Given the description of an element on the screen output the (x, y) to click on. 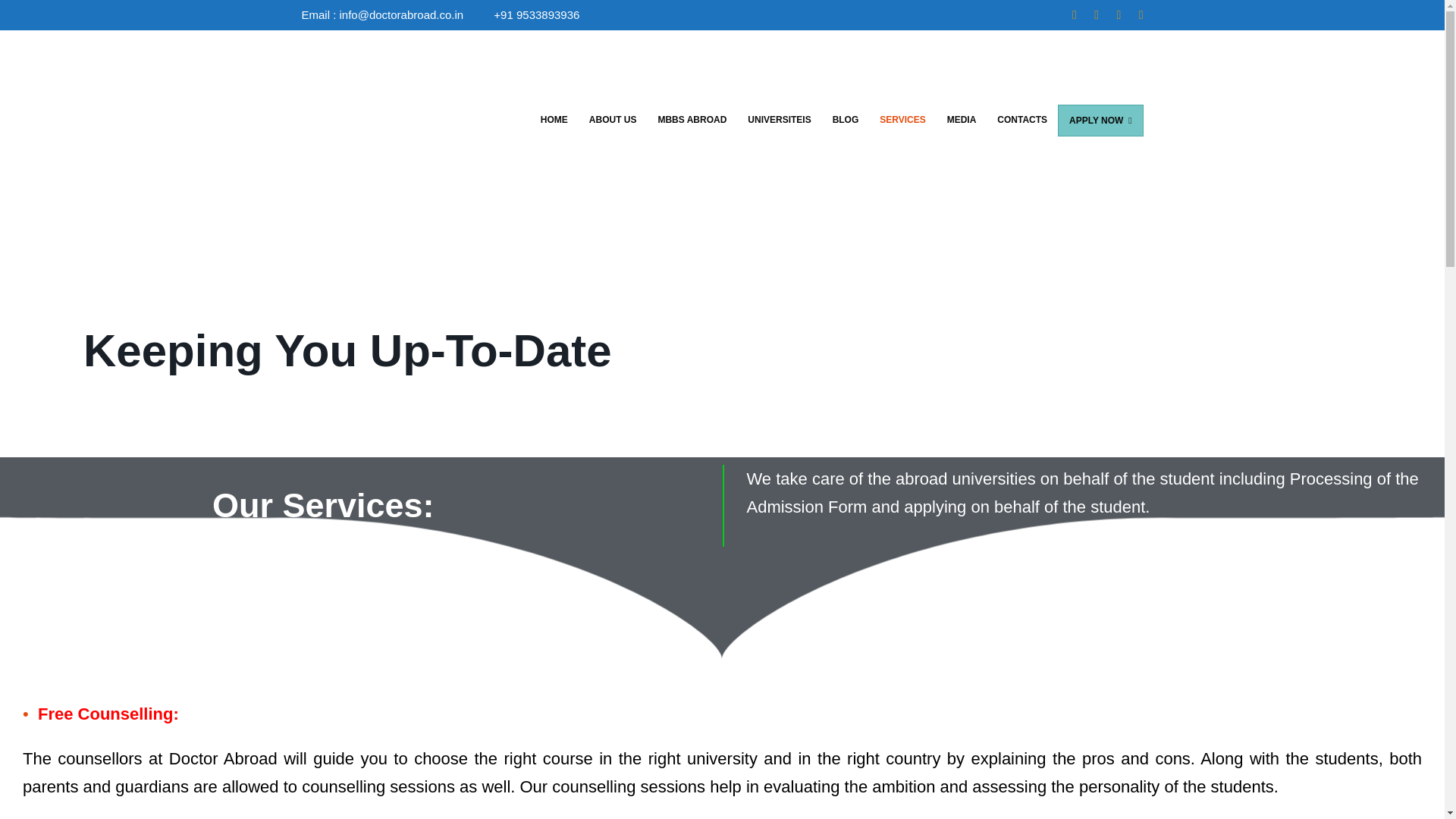
UNIVERSITEIS (778, 119)
ABOUT US (612, 119)
MBBS ABROAD (691, 119)
HOME (553, 119)
